Given the description of an element on the screen output the (x, y) to click on. 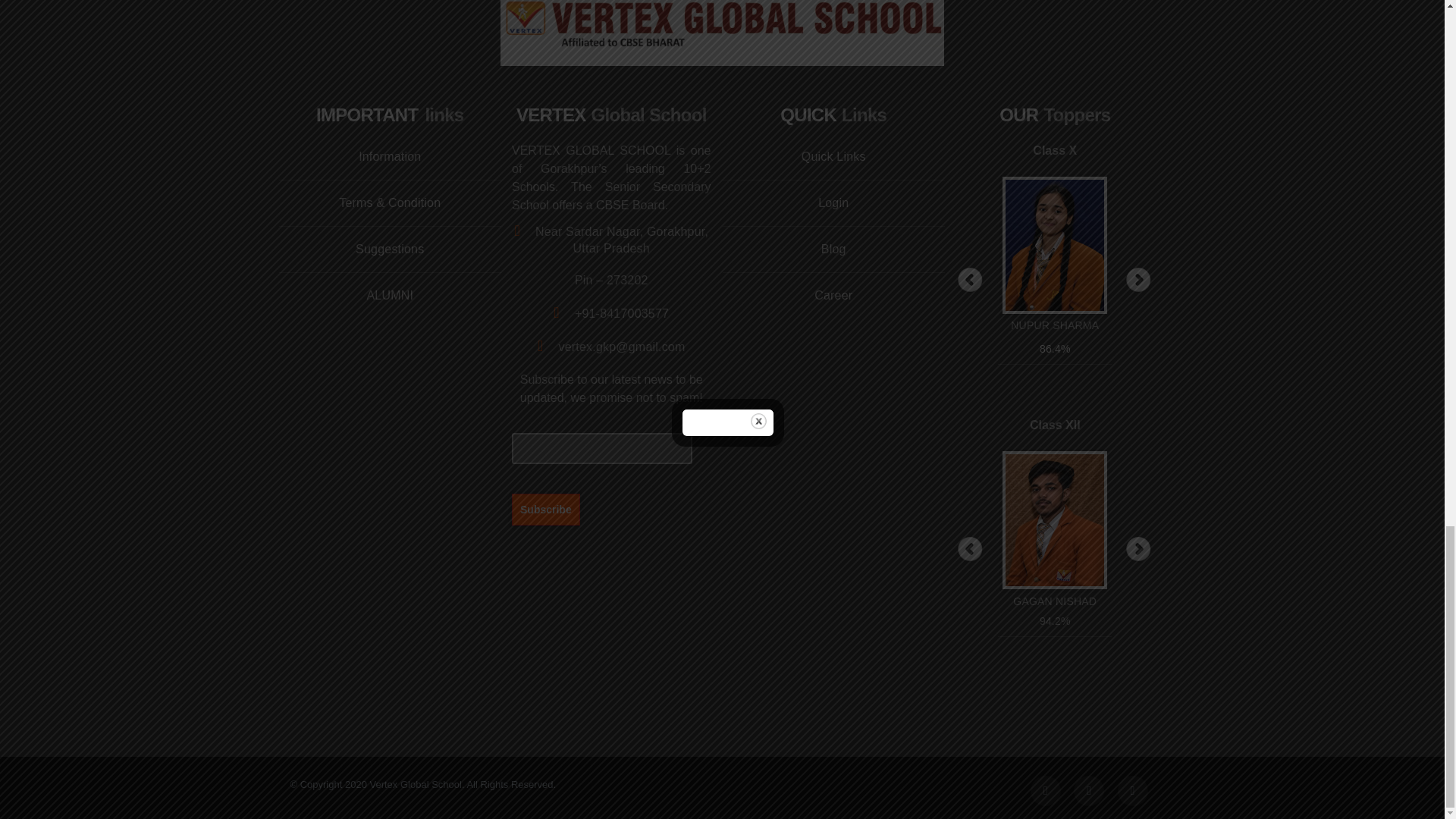
Subscribe (545, 508)
